Given the description of an element on the screen output the (x, y) to click on. 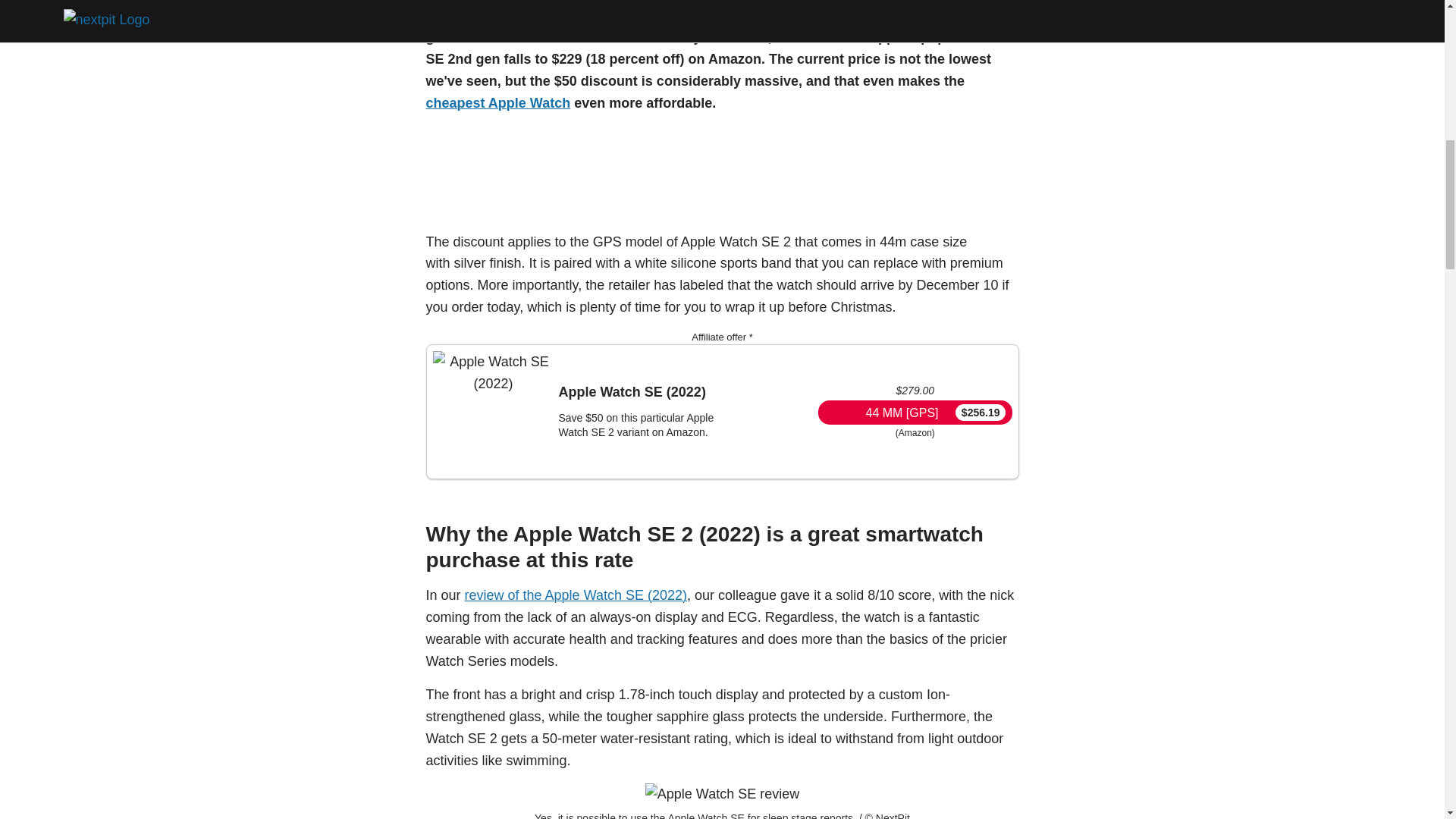
Apple Watch SE review (722, 793)
